Given the description of an element on the screen output the (x, y) to click on. 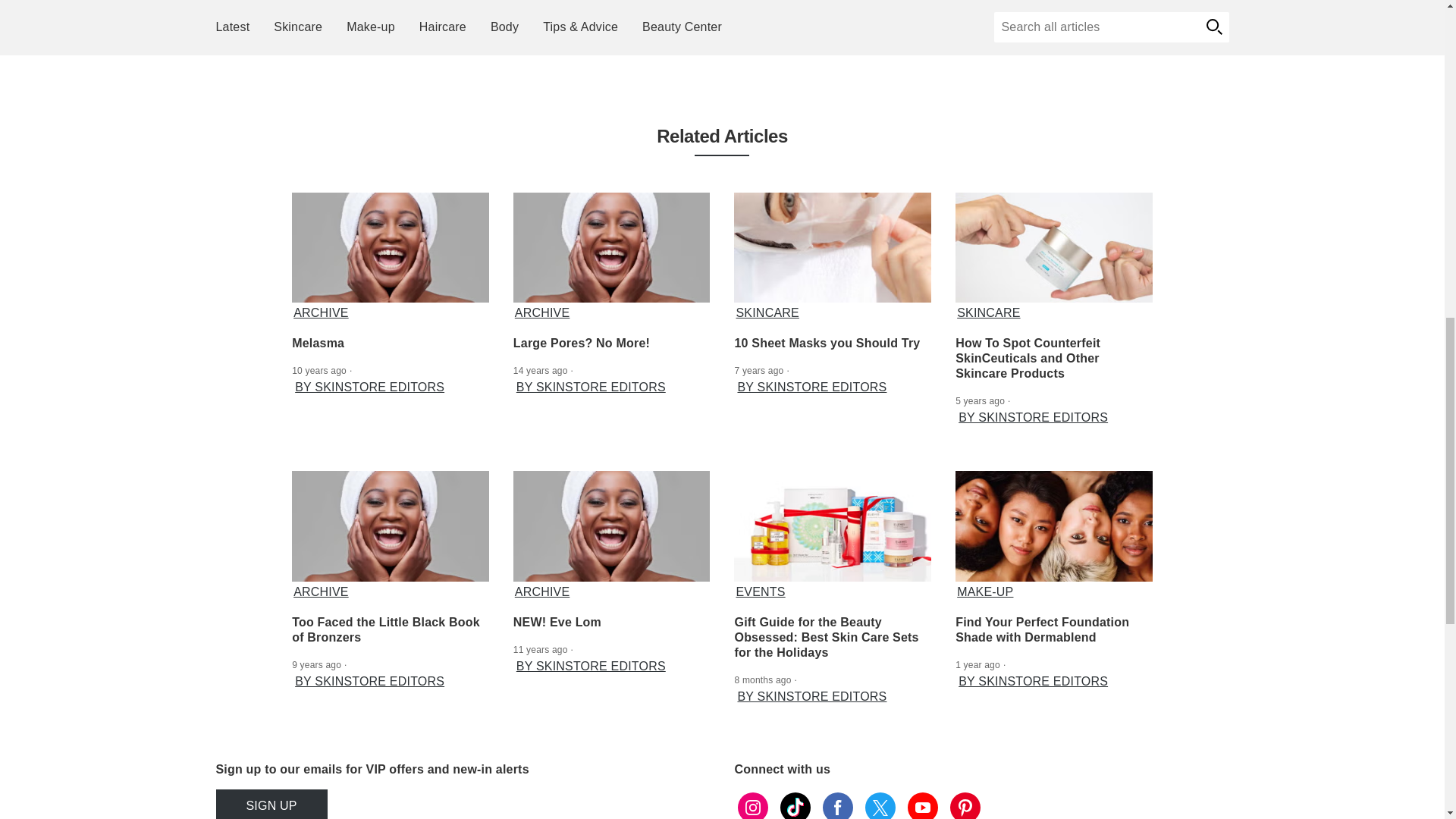
tiktok (794, 804)
twitter (879, 804)
facebook (837, 804)
instagram (751, 804)
